Given the description of an element on the screen output the (x, y) to click on. 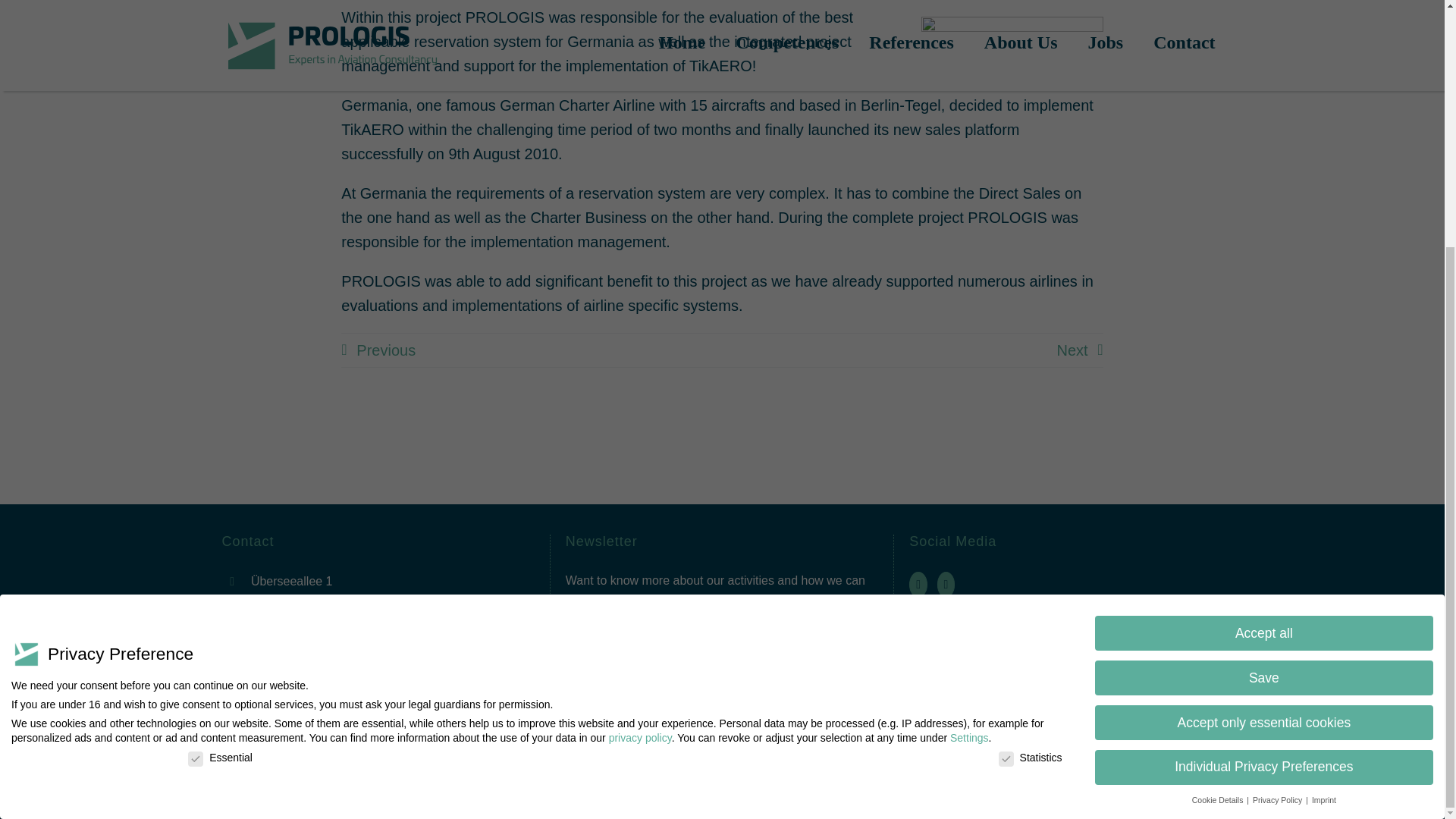
Individual Privacy Preferences (1263, 417)
Privacy Policy (1189, 779)
privacy policy (639, 378)
Accept all (1263, 278)
Accept only essential cookies (1263, 371)
Imprint (1115, 779)
Research (1064, 635)
Cookie Details (1219, 451)
Settings (969, 381)
Press (1064, 695)
